Given the description of an element on the screen output the (x, y) to click on. 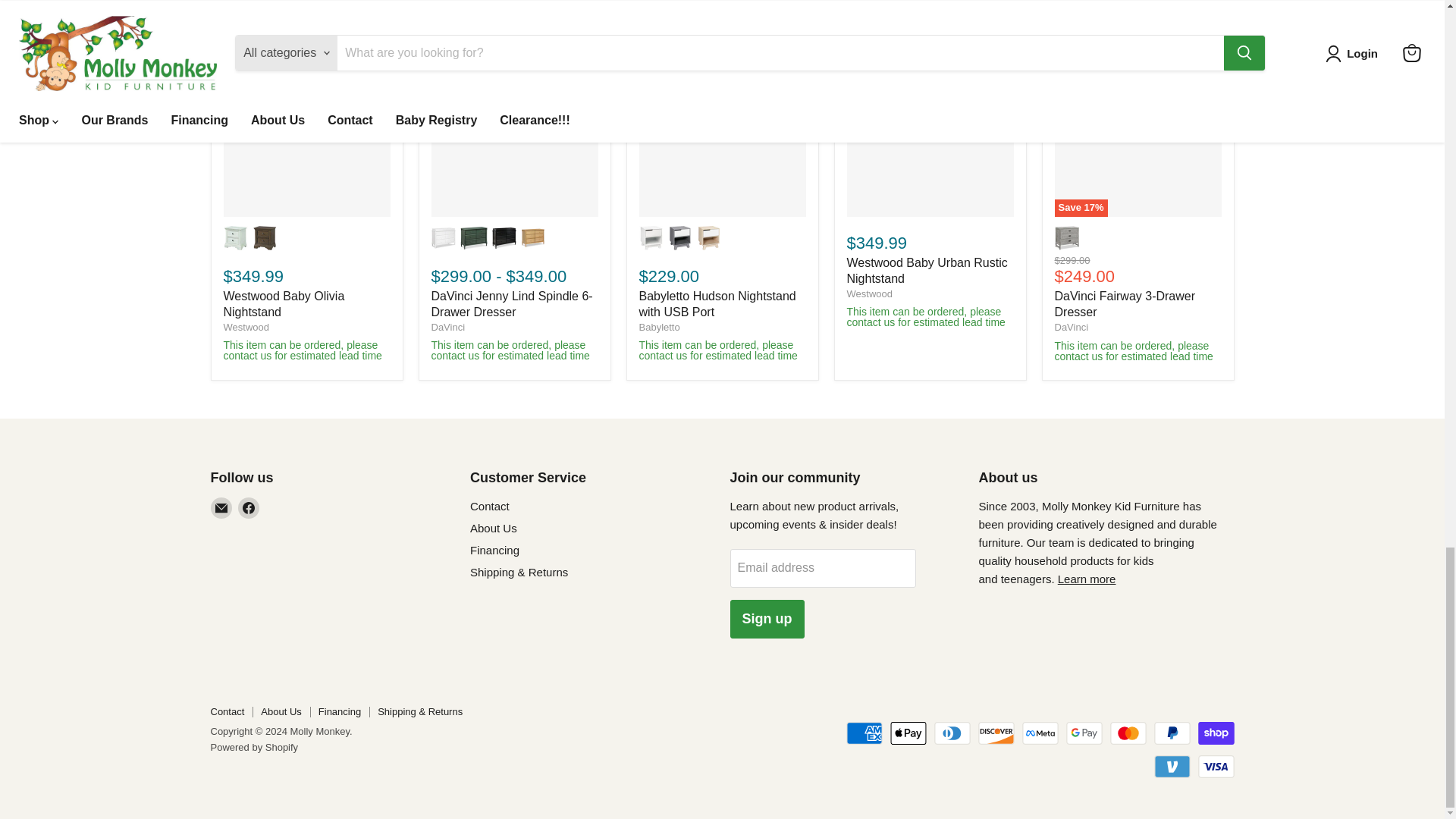
Diners Club (952, 732)
Babyletto (659, 326)
American Express (863, 732)
Westwood (244, 326)
DaVinci (447, 326)
DaVinci (1070, 326)
Westwood (868, 293)
Email (221, 507)
Apple Pay (907, 732)
About Us (1087, 578)
Facebook (248, 507)
